Given the description of an element on the screen output the (x, y) to click on. 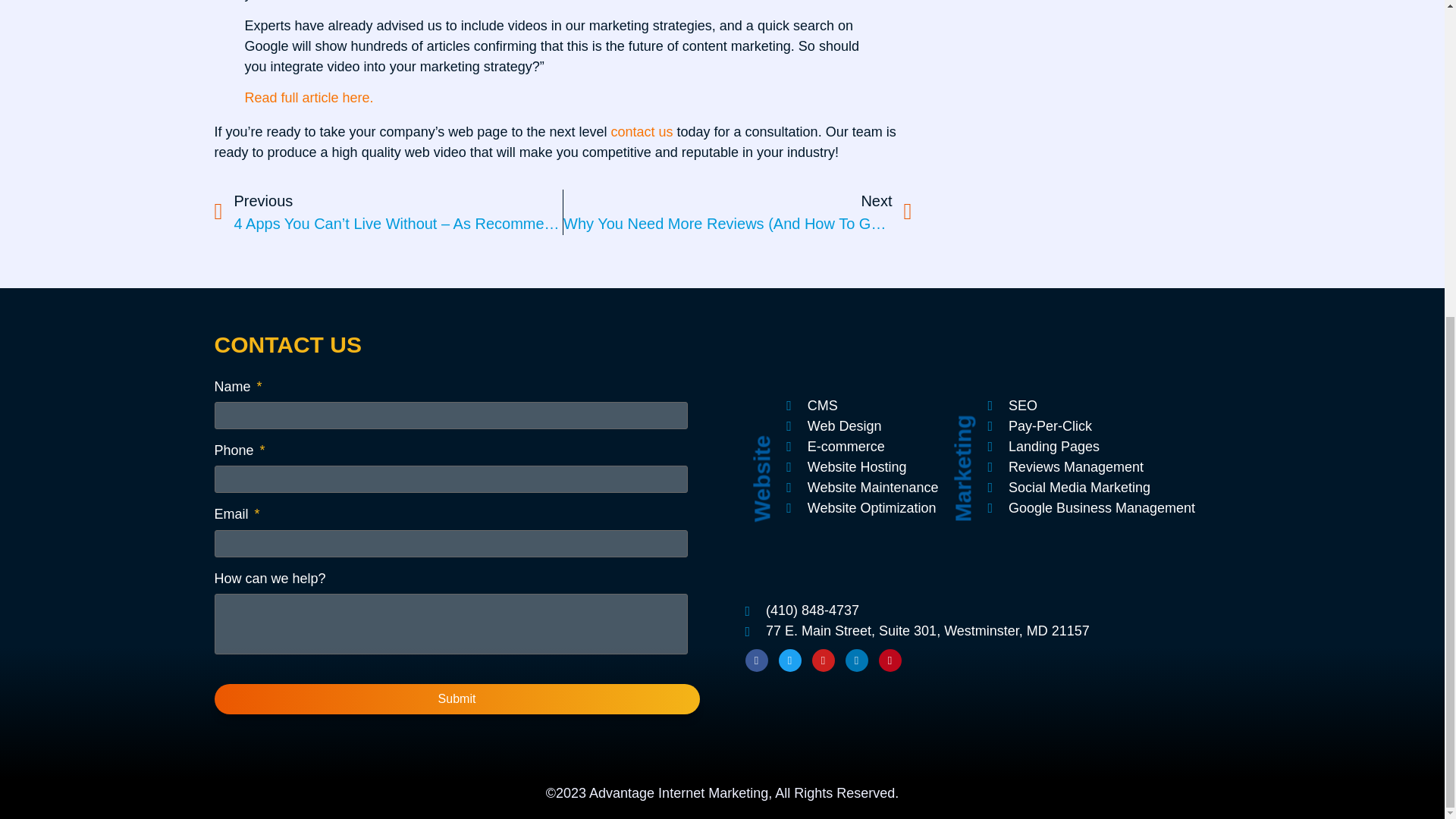
contact us (641, 131)
Website Optimization (861, 507)
Submit (456, 698)
Web Design (861, 426)
Website Maintenance (861, 487)
Submit (456, 698)
E-commerce (861, 446)
Website Hosting (861, 467)
Read full article here. (308, 97)
CMS (861, 405)
